Given the description of an element on the screen output the (x, y) to click on. 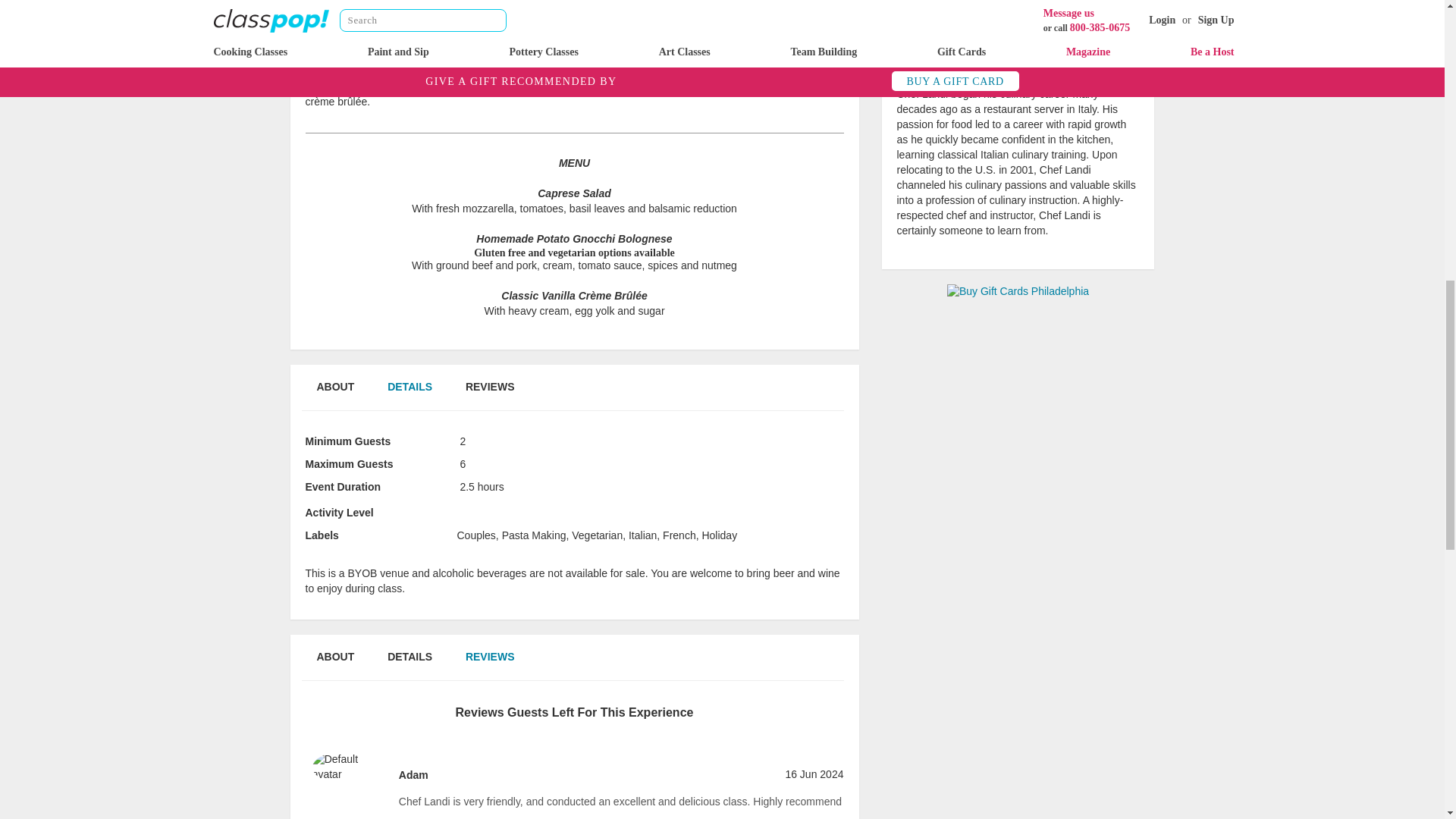
DETAILS (409, 388)
ABOUT (334, 388)
DETAILS (409, 657)
A mix of chef demonstration and hands-on cooking (499, 506)
REVIEWS (489, 388)
38 reviews (1017, 71)
ABOUT (334, 657)
REVIEWS (489, 657)
